Given the description of an element on the screen output the (x, y) to click on. 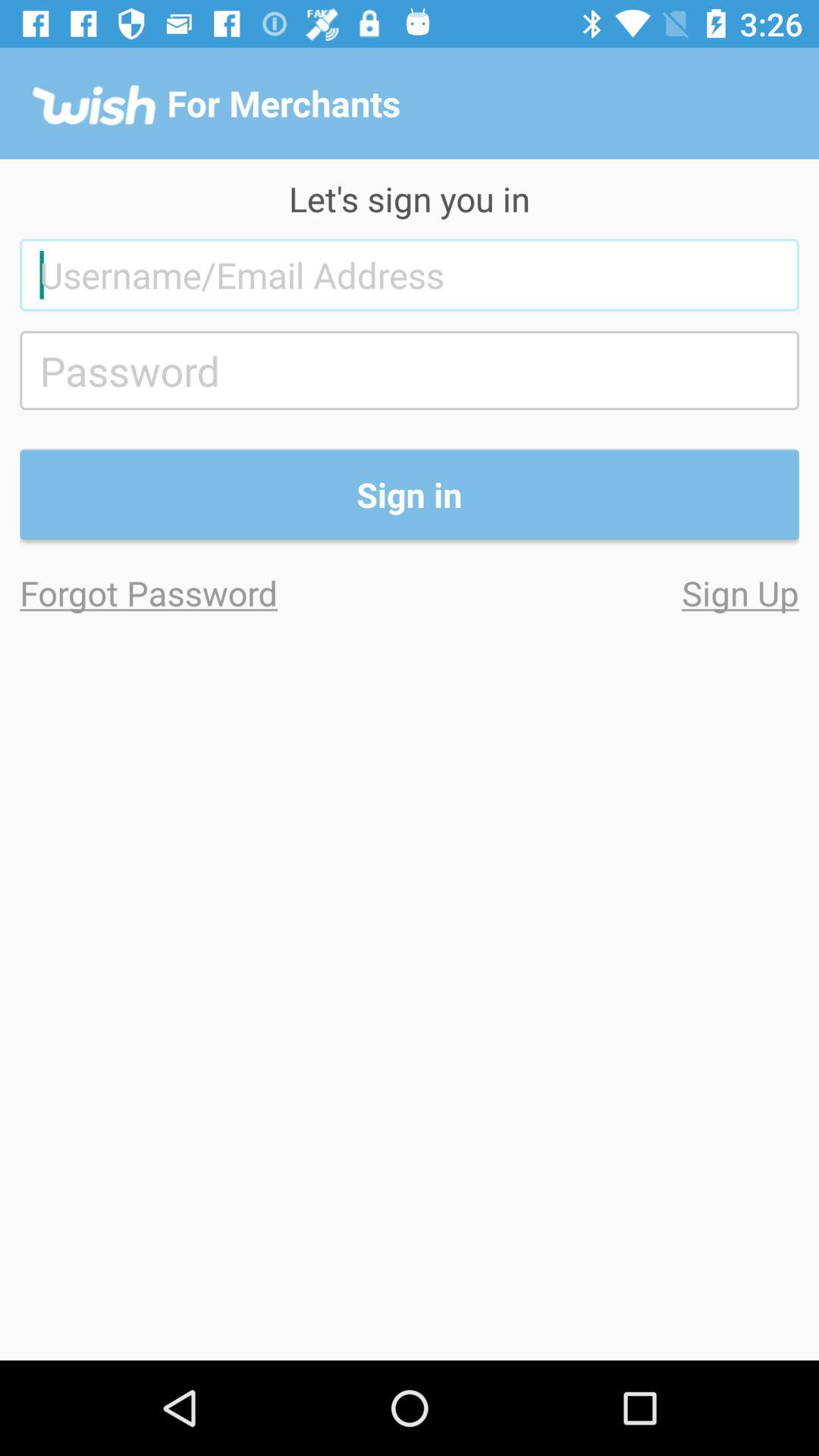
press the item below sign in icon (214, 592)
